Given the description of an element on the screen output the (x, y) to click on. 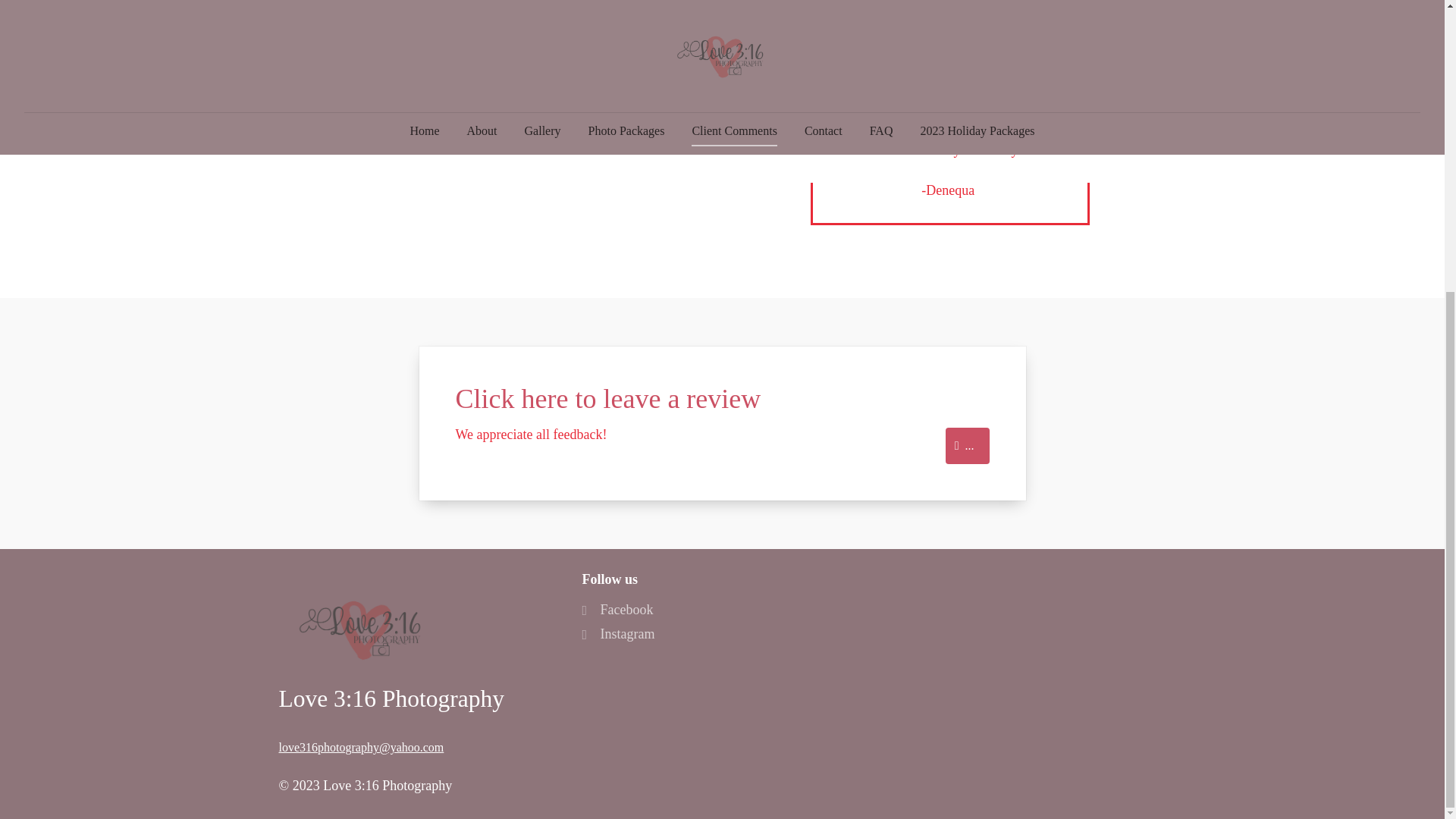
Facebook (616, 609)
... (967, 445)
Instagram (616, 633)
